Given the description of an element on the screen output the (x, y) to click on. 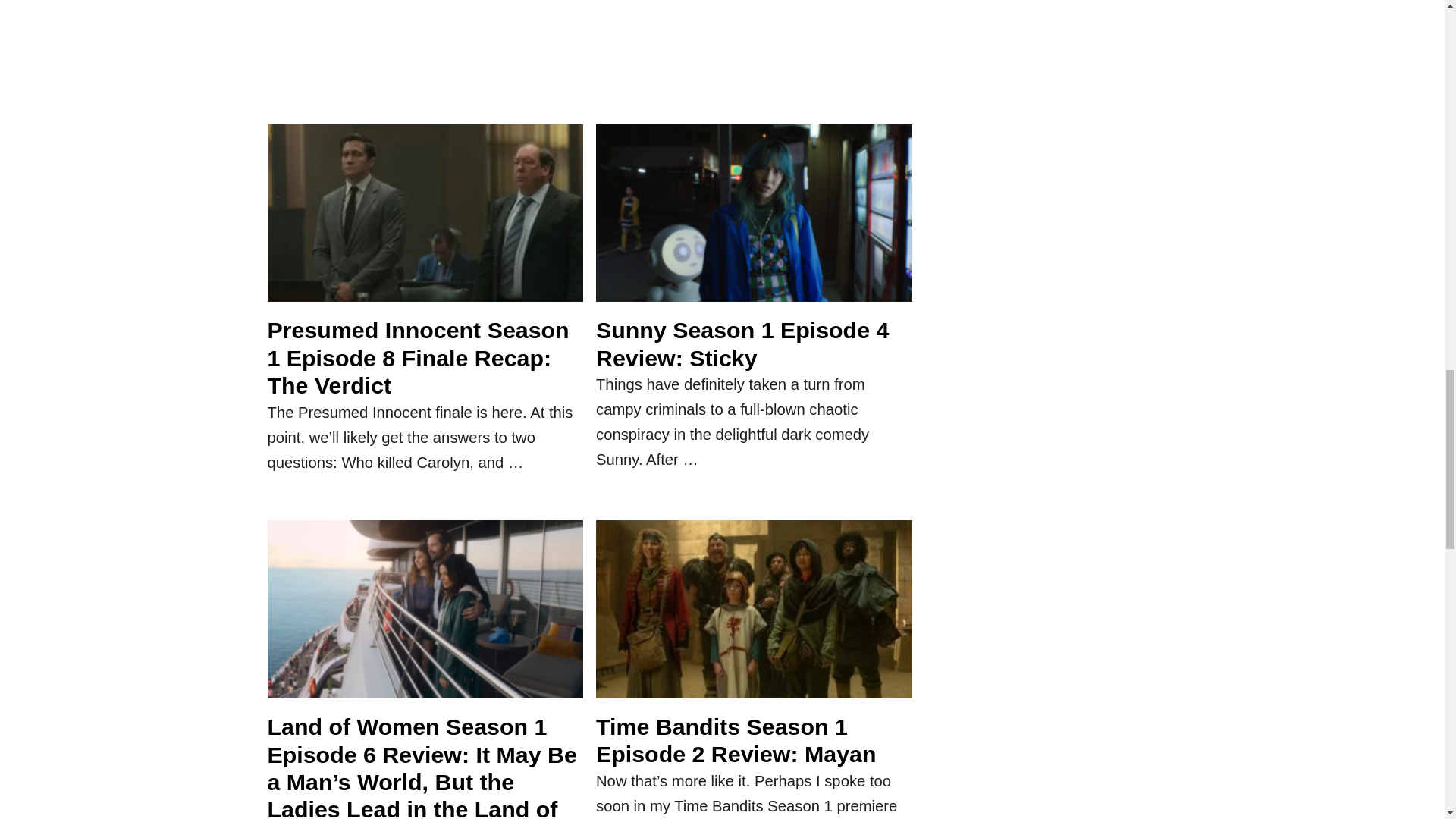
Sunny Season 1 Episode 4 Review: Sticky (753, 220)
Time Bandits Season 1 Episode 2 Review: Mayan (753, 616)
